Given the description of an element on the screen output the (x, y) to click on. 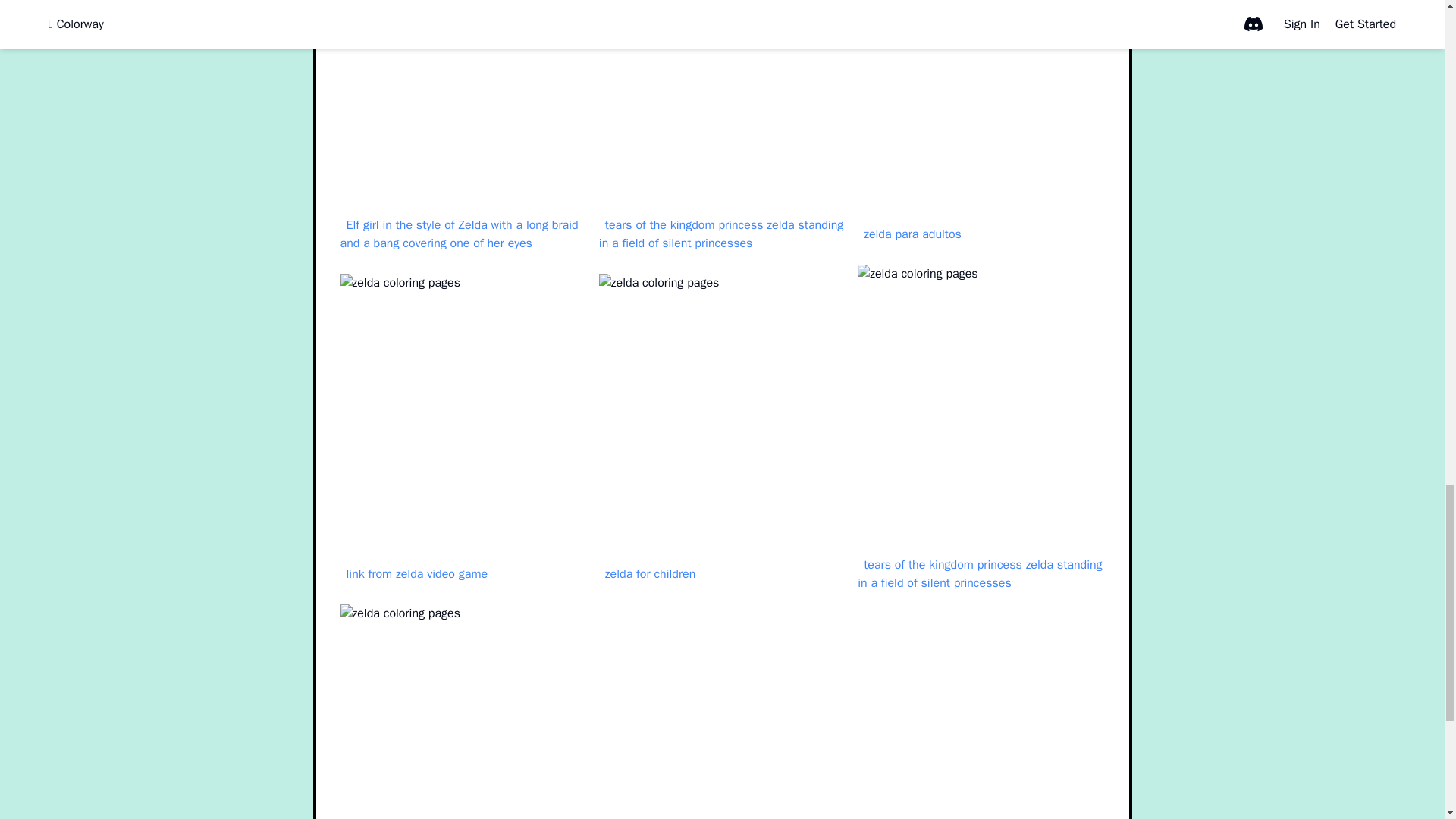
zelda for children (649, 573)
link from zelda video game (416, 573)
zelda para adultos (912, 233)
